Given the description of an element on the screen output the (x, y) to click on. 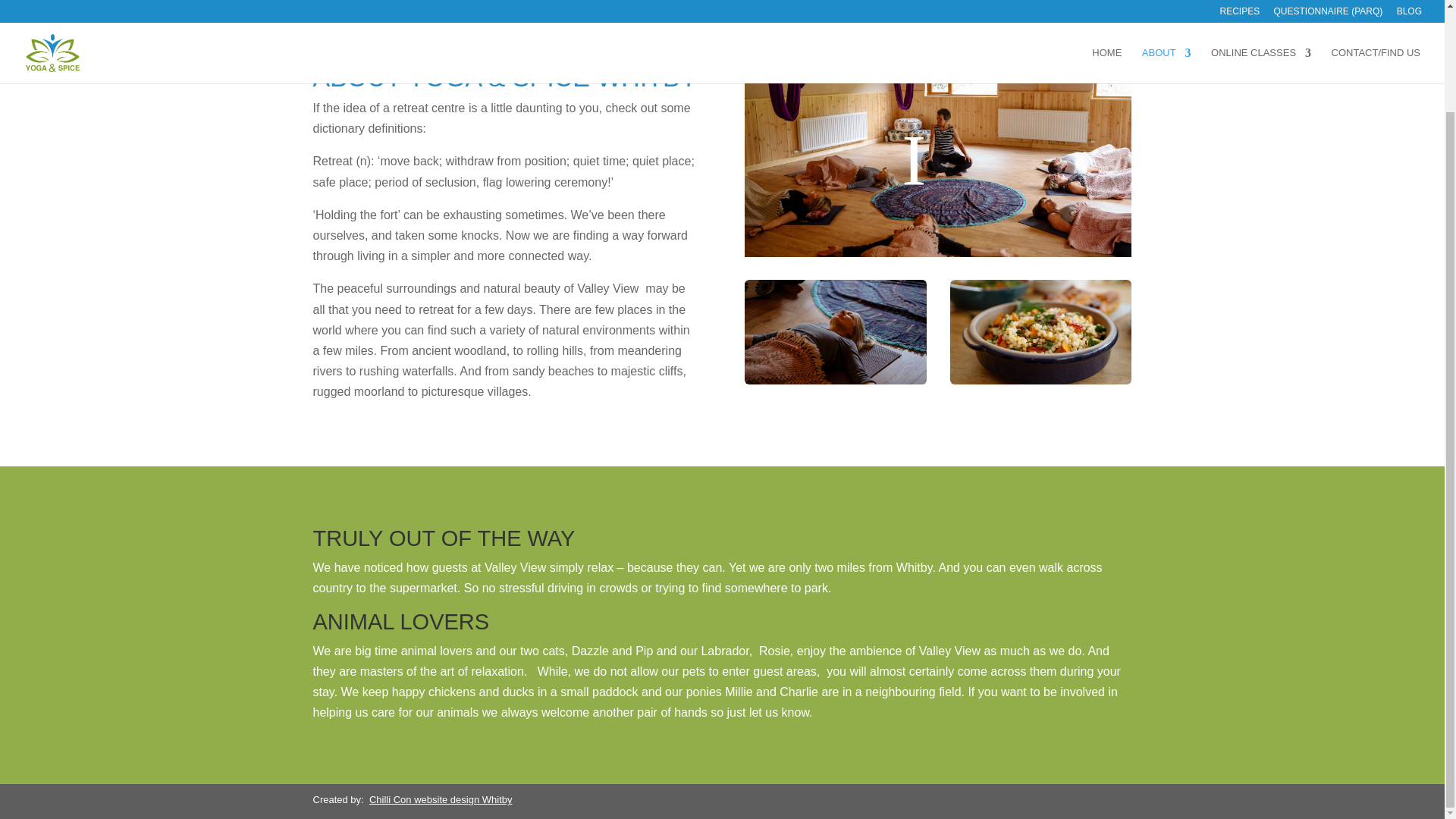
Web design Whitby (440, 799)
yoga-landscape-3 (1040, 332)
yoga-landscape-4 (835, 332)
Chilli Con website design Whitby (440, 799)
